Given the description of an element on the screen output the (x, y) to click on. 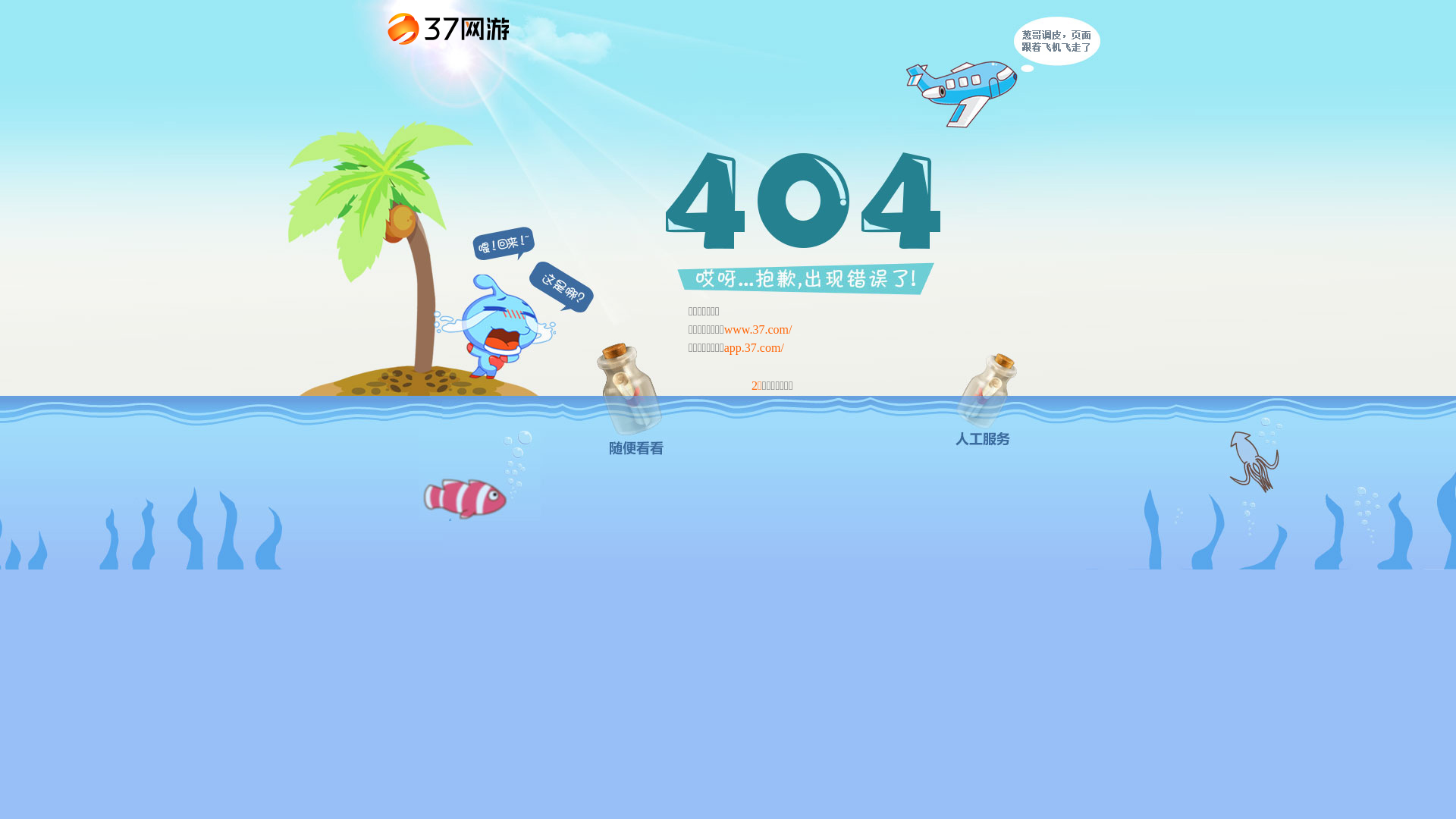
app.37.com/ Element type: text (754, 347)
www.37.com/ Element type: text (758, 329)
